Given the description of an element on the screen output the (x, y) to click on. 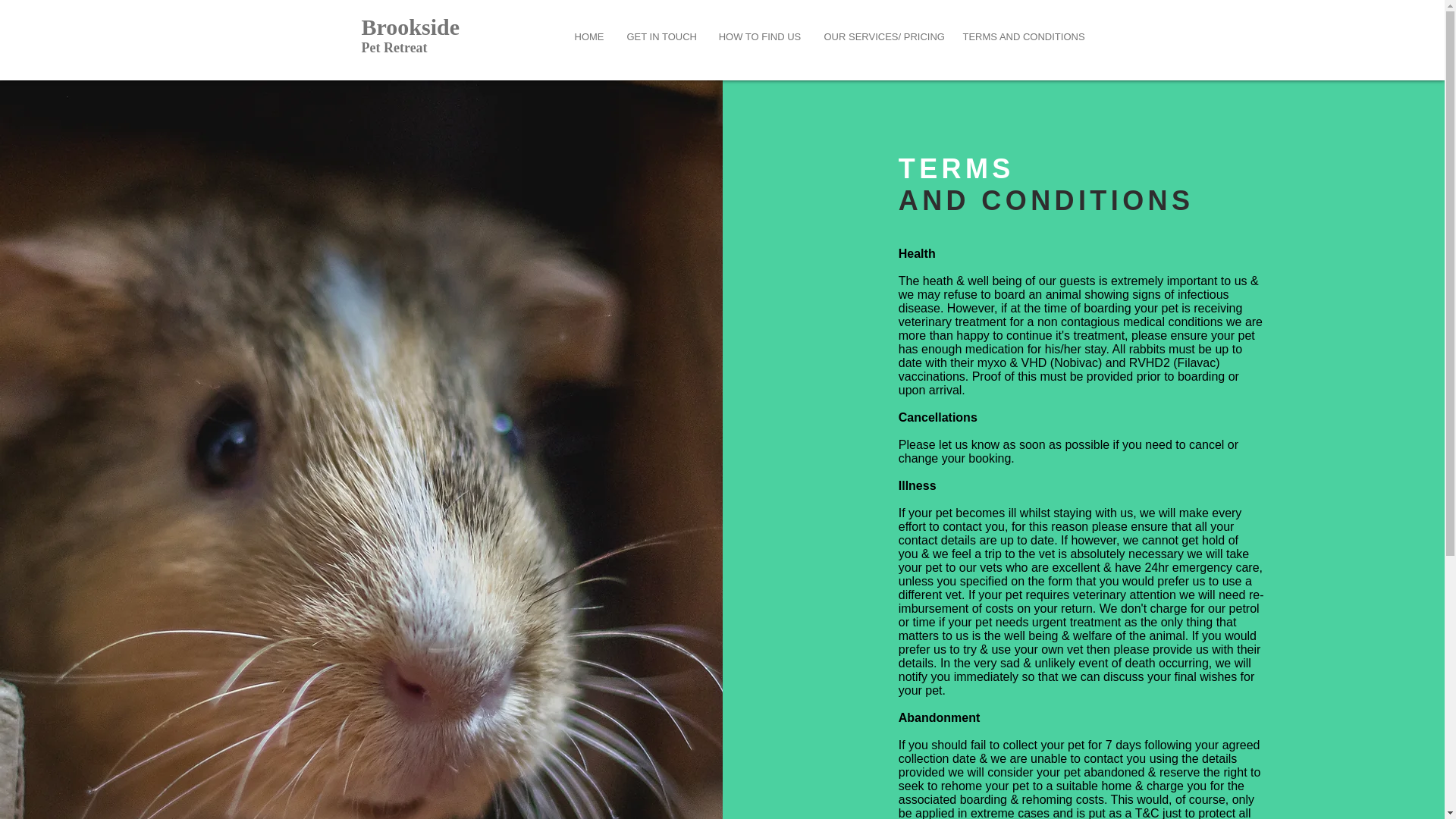
TERMS AND CONDITIONS (1021, 36)
HOW TO FIND US (759, 36)
Brookside  (412, 26)
GET IN TOUCH (661, 36)
HOME (588, 36)
